Given the description of an element on the screen output the (x, y) to click on. 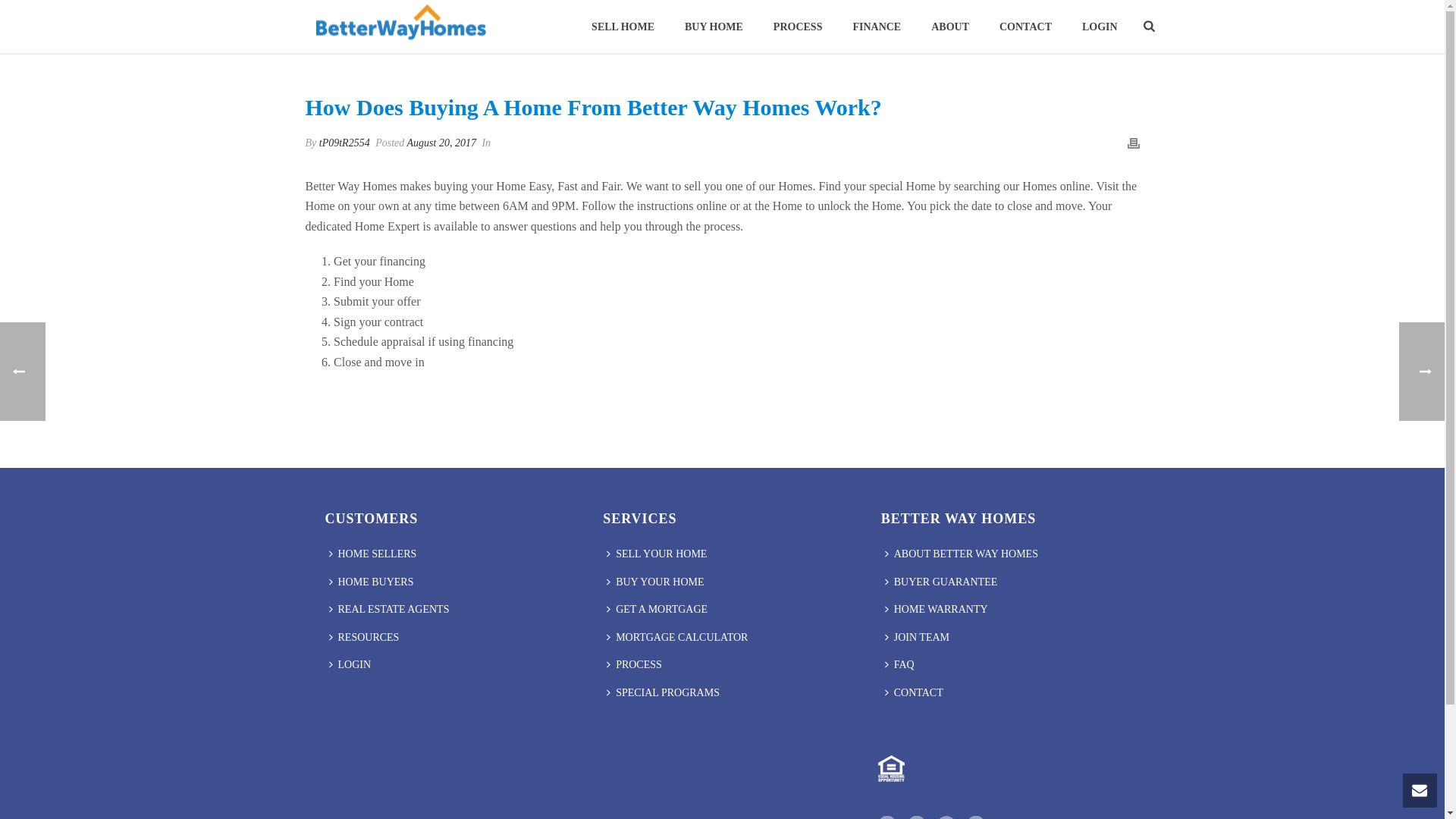
BUY HOME (713, 27)
Follow Us on linkedin (916, 817)
PROCESS (798, 27)
Follow Us on twitter (975, 817)
BUY HOME (713, 27)
CONTACT (1025, 27)
LOGIN (1099, 27)
PROCESS (798, 27)
FINANCE (876, 27)
SELL HOME (622, 27)
